Given the description of an element on the screen output the (x, y) to click on. 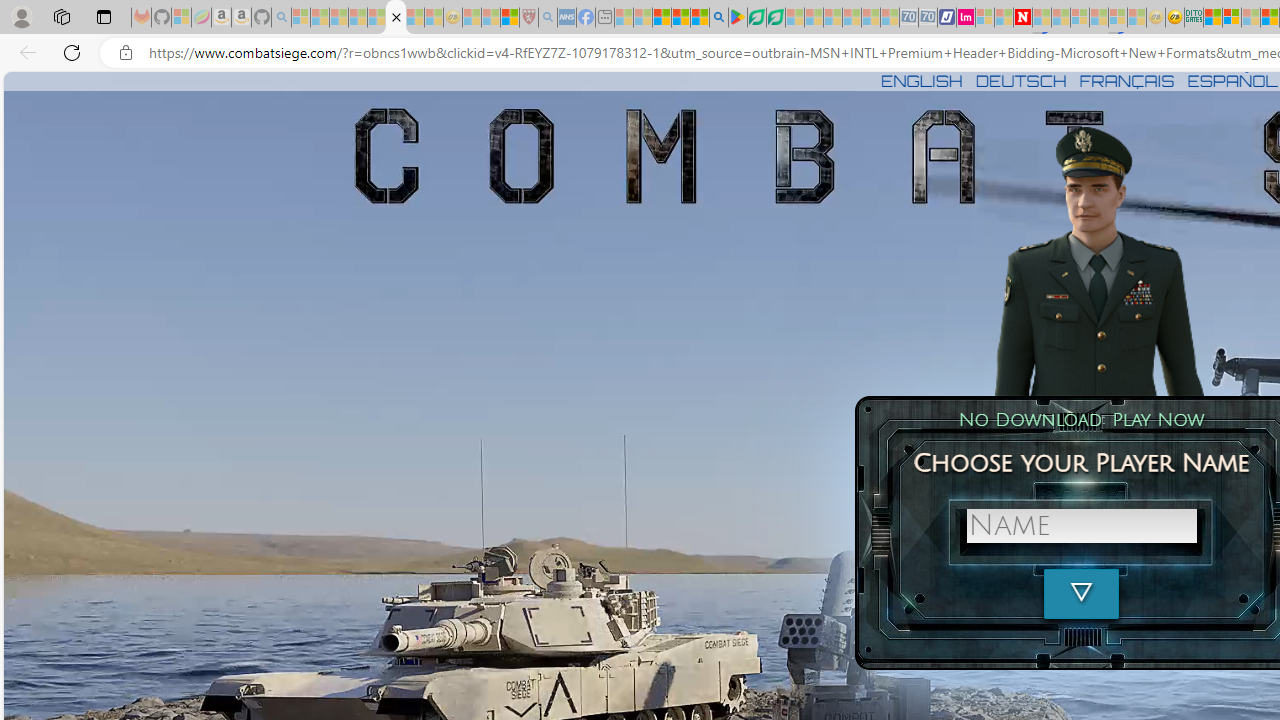
DITOGAMES AG Imprint (1194, 17)
14 Common Myths Debunked By Scientific Facts - Sleeping (1061, 17)
Jobs - lastminute.com Investor Portal (966, 17)
Terms of Use Agreement (756, 17)
